Given the description of an element on the screen output the (x, y) to click on. 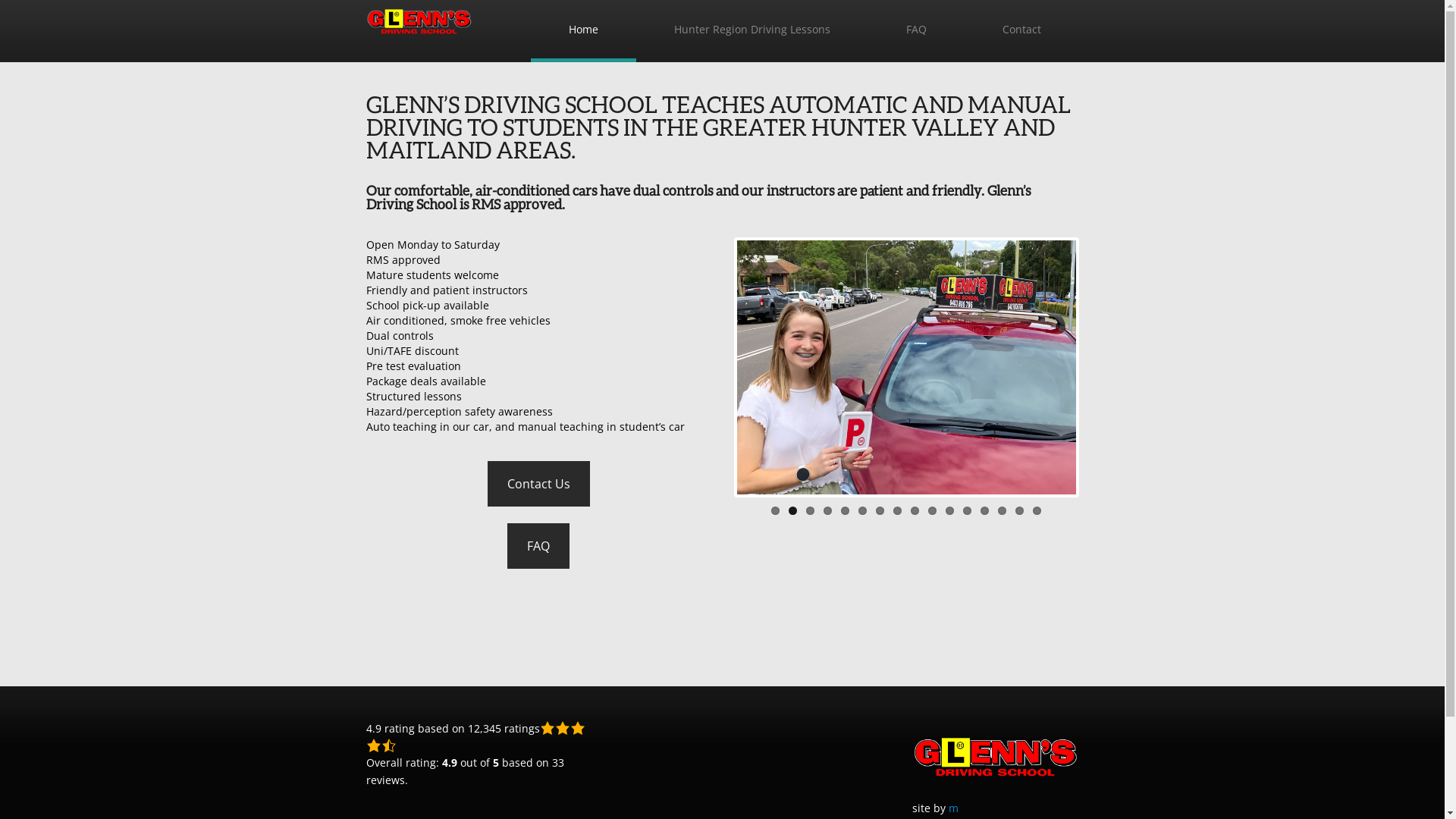
Contact Us Element type: text (537, 483)
Home Element type: text (583, 34)
Hunter Region Driving Lessons Element type: text (751, 34)
2 Element type: text (792, 510)
13 Element type: text (984, 510)
FAQ Element type: text (538, 545)
1 Element type: text (775, 510)
FAQ Element type: text (915, 34)
12 Element type: text (967, 510)
15 Element type: text (1019, 510)
3 Element type: text (810, 510)
7 Element type: text (879, 510)
16 Element type: text (1036, 510)
8 Element type: text (897, 510)
10 Element type: text (932, 510)
4 Element type: text (827, 510)
6 Element type: text (862, 510)
Contact Element type: text (1021, 34)
m Element type: text (952, 807)
9 Element type: text (914, 510)
11 Element type: text (949, 510)
5 Element type: text (844, 510)
14 Element type: text (1001, 510)
